Given the description of an element on the screen output the (x, y) to click on. 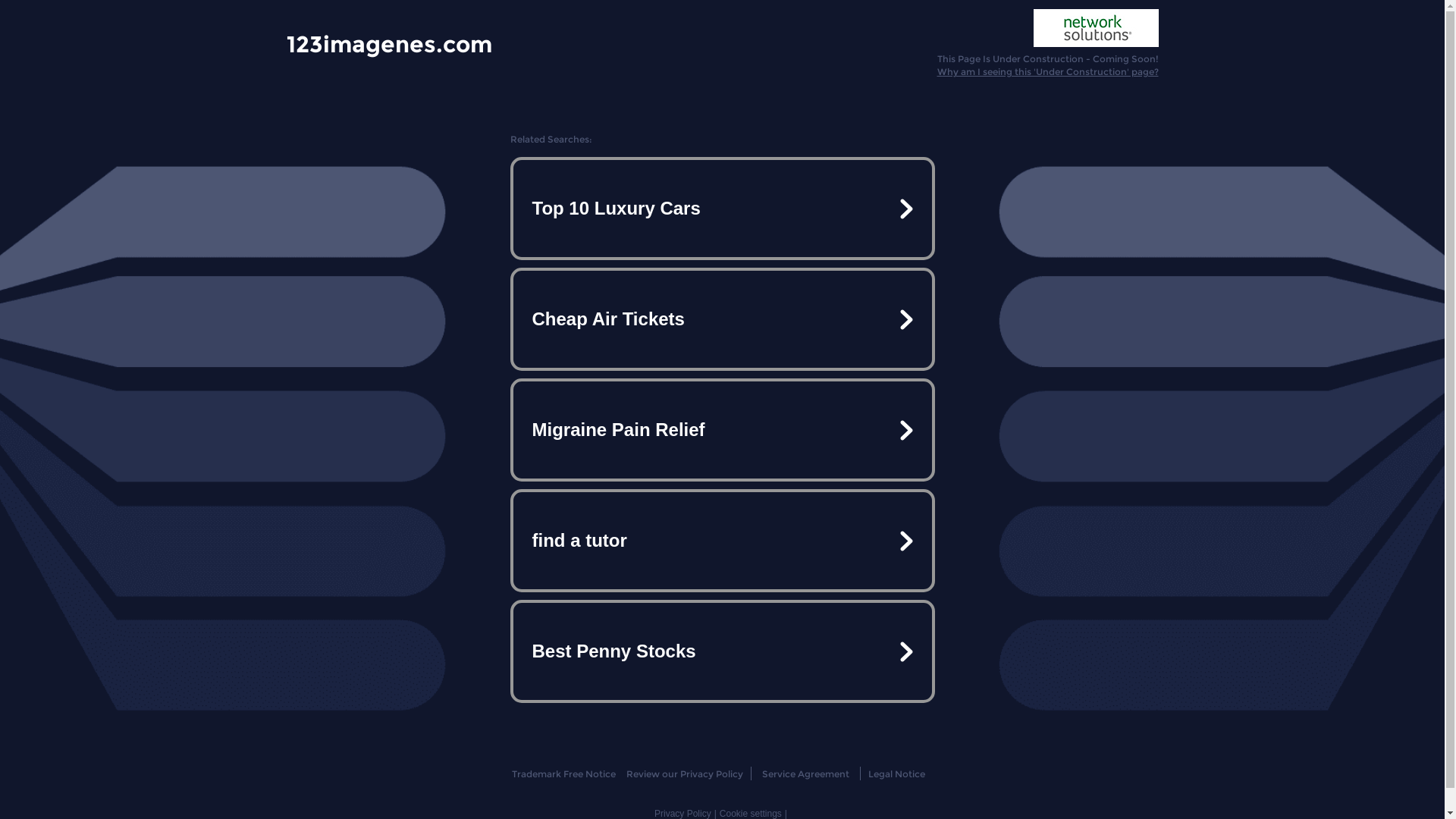
Best Penny Stocks Element type: text (721, 650)
Review our Privacy Policy Element type: text (684, 773)
find a tutor Element type: text (721, 540)
Legal Notice Element type: text (896, 773)
Trademark Free Notice Element type: text (563, 773)
Top 10 Luxury Cars Element type: text (721, 208)
Cheap Air Tickets Element type: text (721, 318)
Migraine Pain Relief Element type: text (721, 429)
123imagenes.com Element type: text (389, 43)
Why am I seeing this 'Under Construction' page? Element type: text (1047, 71)
Service Agreement Element type: text (805, 773)
